Given the description of an element on the screen output the (x, y) to click on. 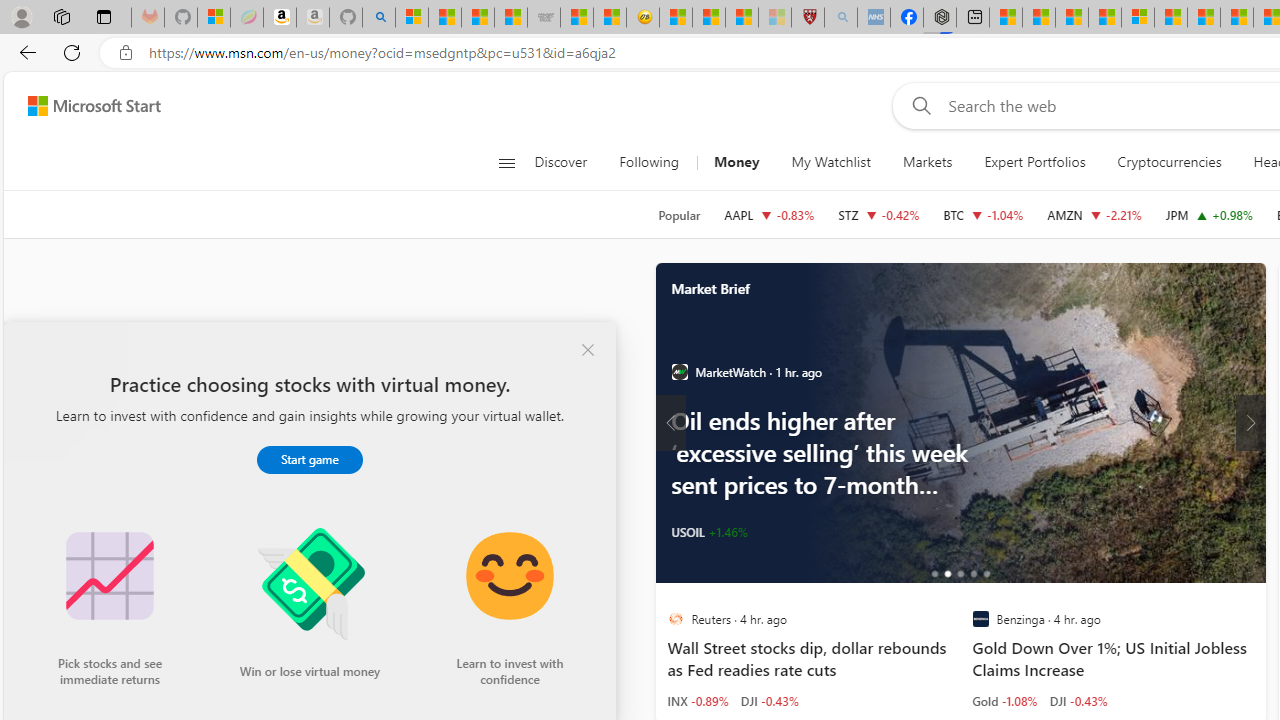
STZ CONSTELLATION BRANDS, INC. decrease 243.70 -1.04 -0.42% (878, 214)
show card (40, 359)
